Given the description of an element on the screen output the (x, y) to click on. 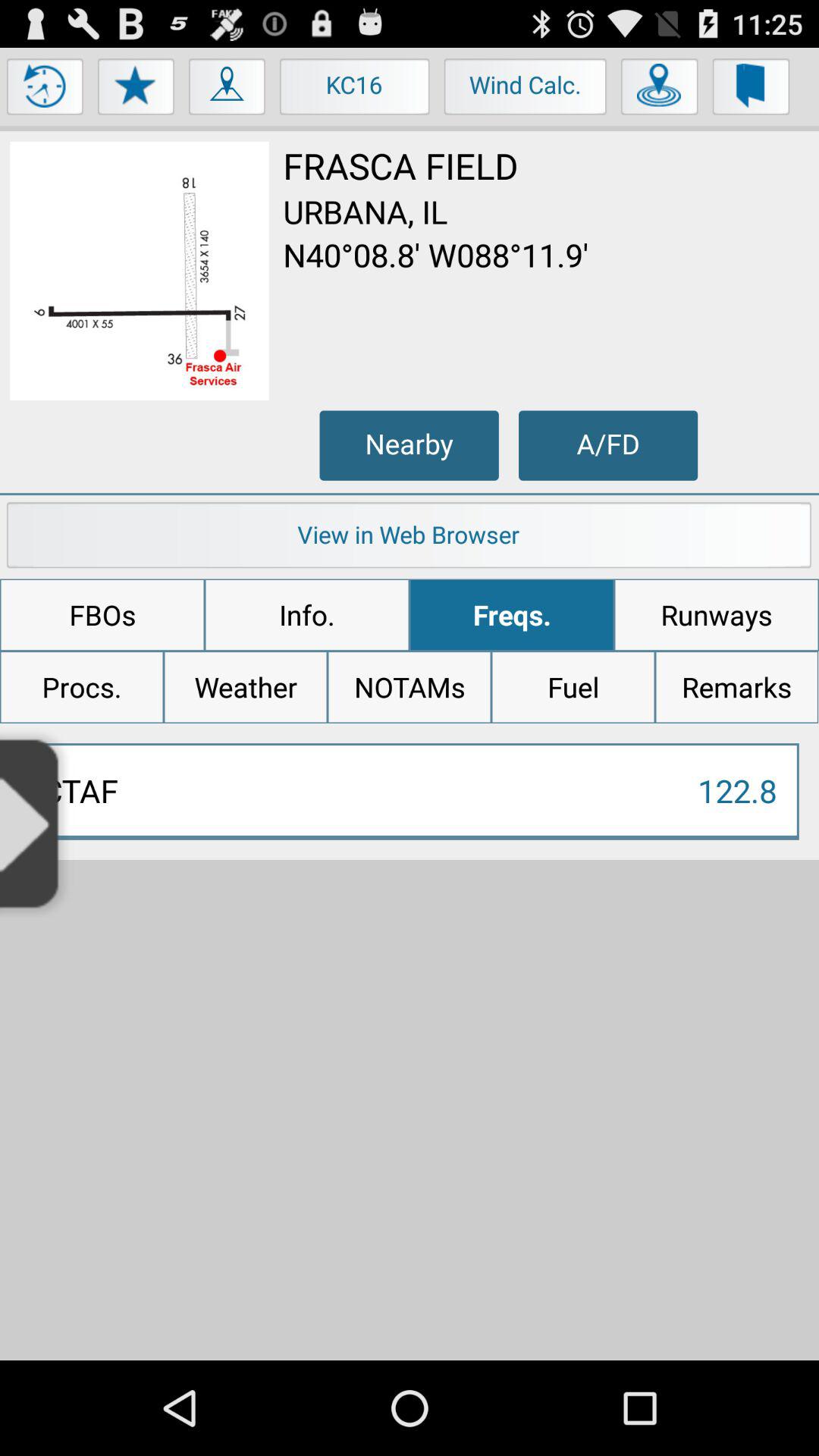
pinpoint location (659, 90)
